Given the description of an element on the screen output the (x, y) to click on. 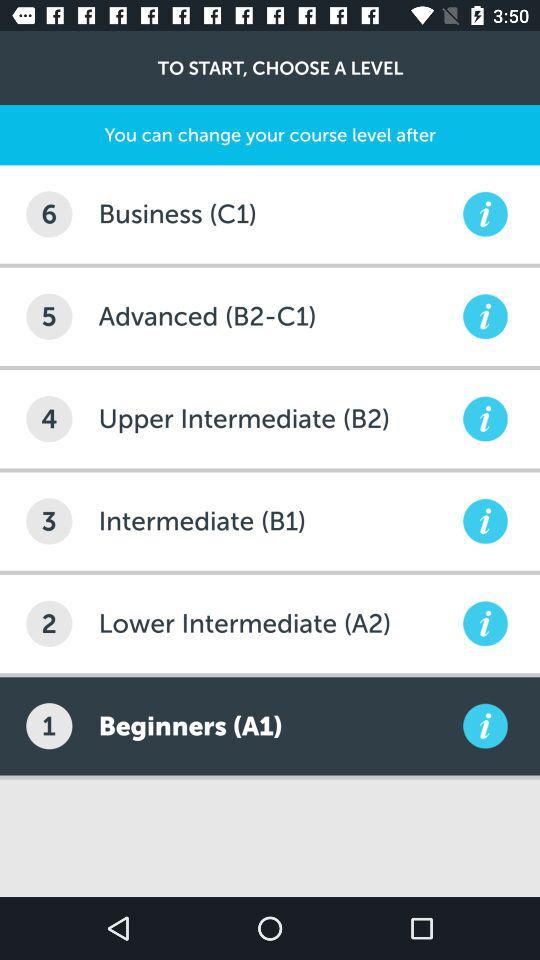
more info (485, 521)
